Given the description of an element on the screen output the (x, y) to click on. 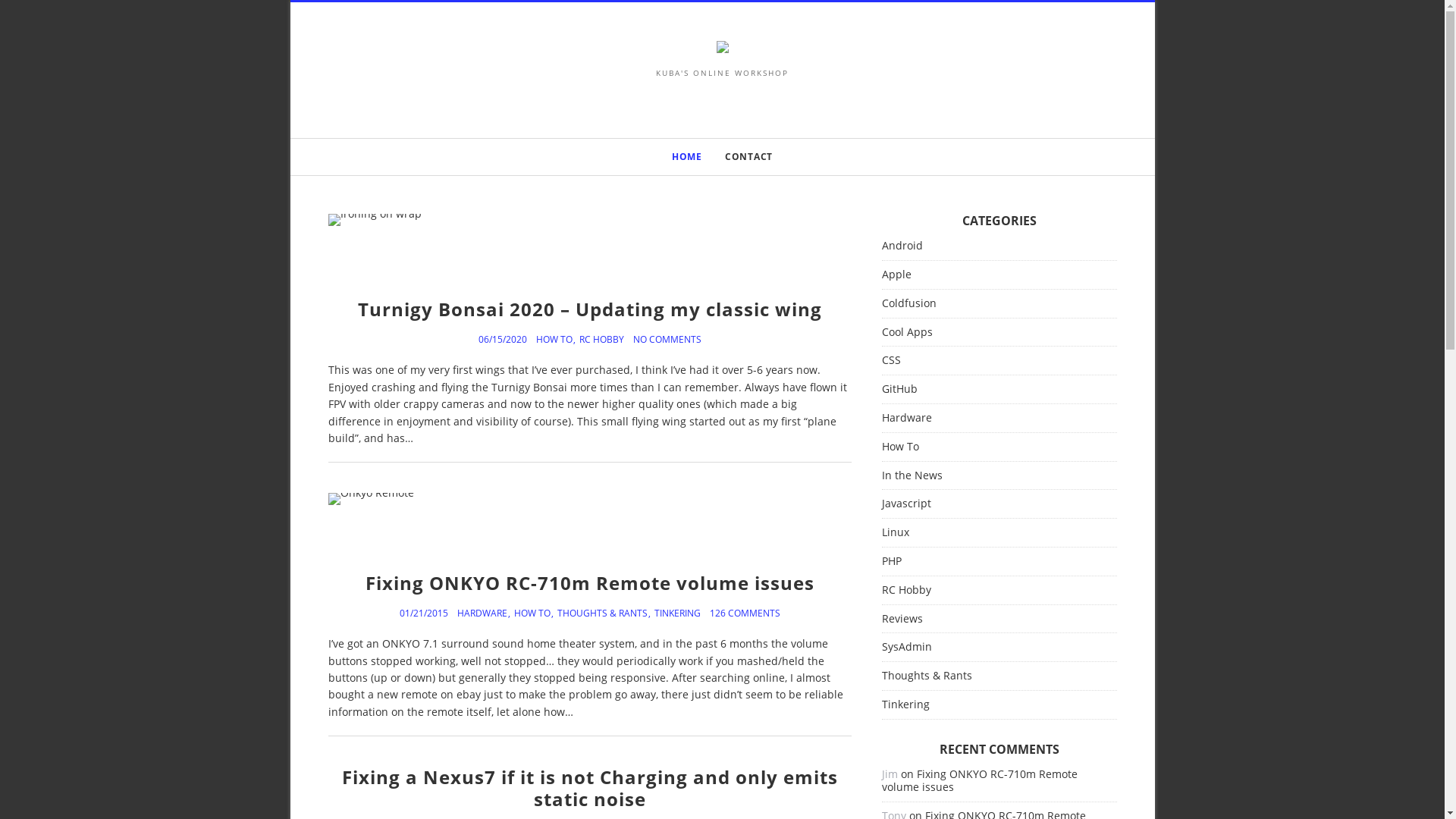
RC Hobby Element type: text (909, 589)
Hardware Element type: text (909, 417)
HOME Element type: text (686, 156)
RC HOBBY Element type: text (601, 339)
HOW TO Element type: text (556, 339)
THOUGHTS & RANTS Element type: text (604, 613)
Fixing ONKYO RC-710m Remote volume issues Element type: text (978, 779)
GitHub Element type: text (902, 388)
NO COMMENTS Element type: text (666, 339)
Apple Element type: text (899, 274)
CSS Element type: text (894, 360)
126 COMMENTS Element type: text (744, 613)
Android Element type: text (905, 245)
In the News Element type: text (915, 475)
SysAdmin Element type: text (909, 646)
CONTACT Element type: text (748, 156)
How To Element type: text (903, 446)
Coldfusion Element type: text (912, 303)
Thoughts & Rants Element type: text (930, 675)
PHP Element type: text (894, 561)
TINKERING Element type: text (676, 613)
HARDWARE Element type: text (484, 613)
Cool Apps Element type: text (910, 332)
HOW TO Element type: text (535, 613)
Reviews Element type: text (905, 618)
Javascript Element type: text (909, 503)
Linux Element type: text (898, 532)
Tinkering Element type: text (908, 704)
Fixing ONKYO RC-710m Remote volume issues Element type: text (589, 582)
